Given the description of an element on the screen output the (x, y) to click on. 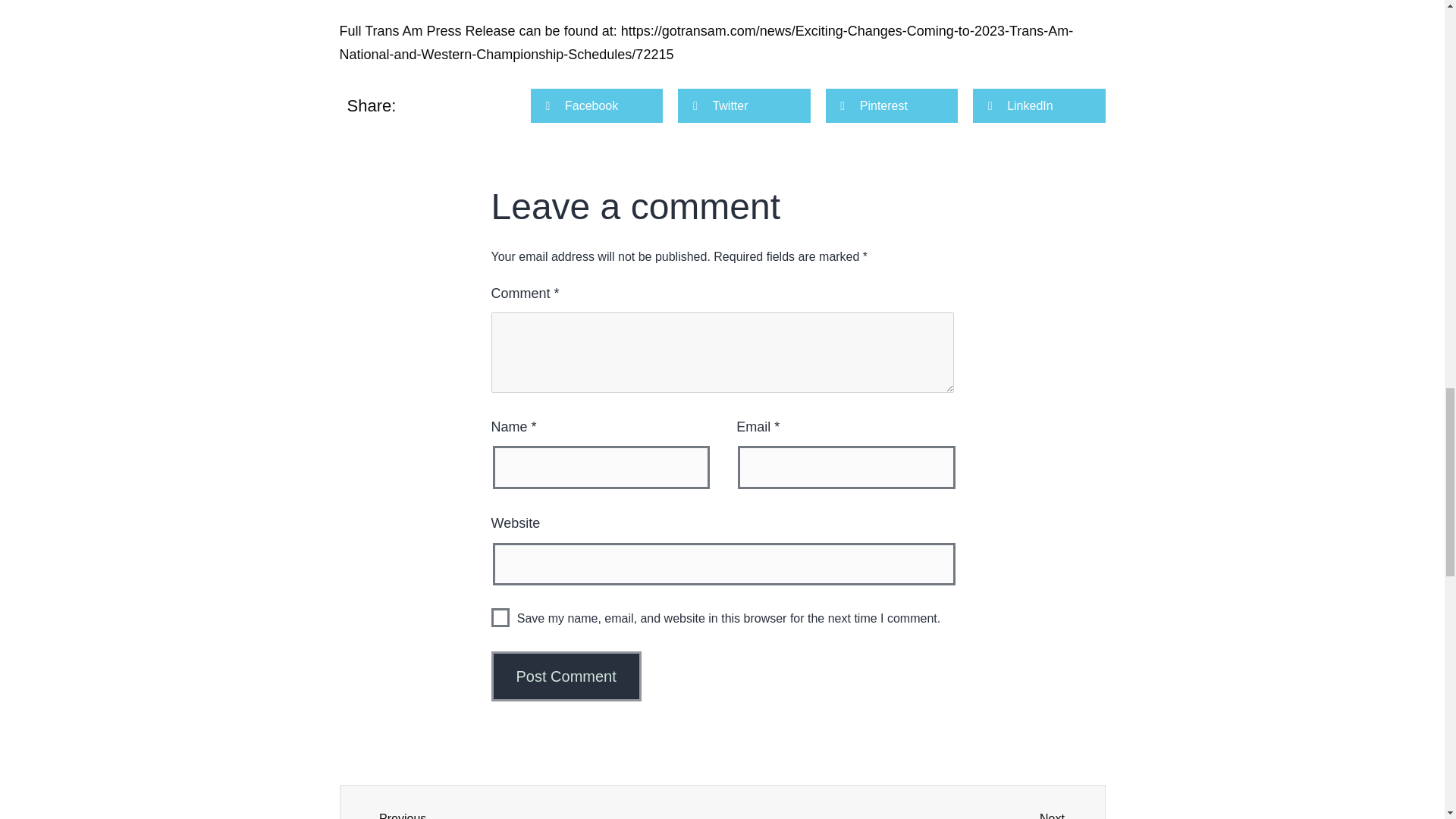
Post Comment (567, 676)
yes (500, 617)
Post Comment (567, 676)
